Given the description of an element on the screen output the (x, y) to click on. 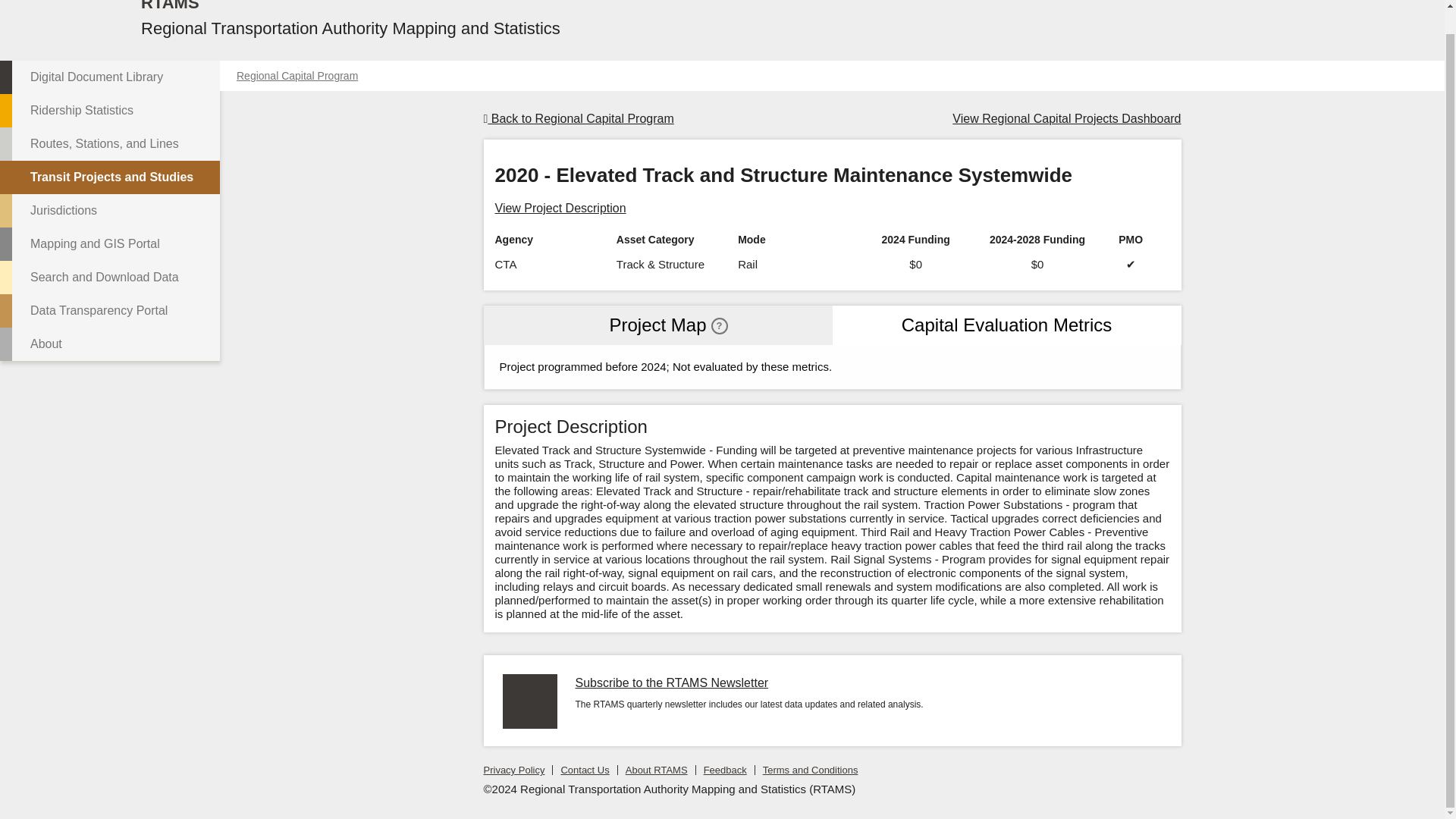
Project Map (657, 324)
Digital Document Library (109, 77)
Terms and Conditions (810, 769)
Mapping and GIS Portal (109, 244)
Back to Regional Capital Program (578, 118)
RTAMS (170, 9)
Search and Download Data (109, 277)
Transit Projects and Studies (109, 177)
Routes, Stations, and Lines (109, 143)
Data Transparency Portal (109, 310)
About (109, 344)
Privacy Policy (513, 769)
Capital Evaluation Metrics (1006, 324)
Contact Us (584, 769)
View Project Description (560, 208)
